Given the description of an element on the screen output the (x, y) to click on. 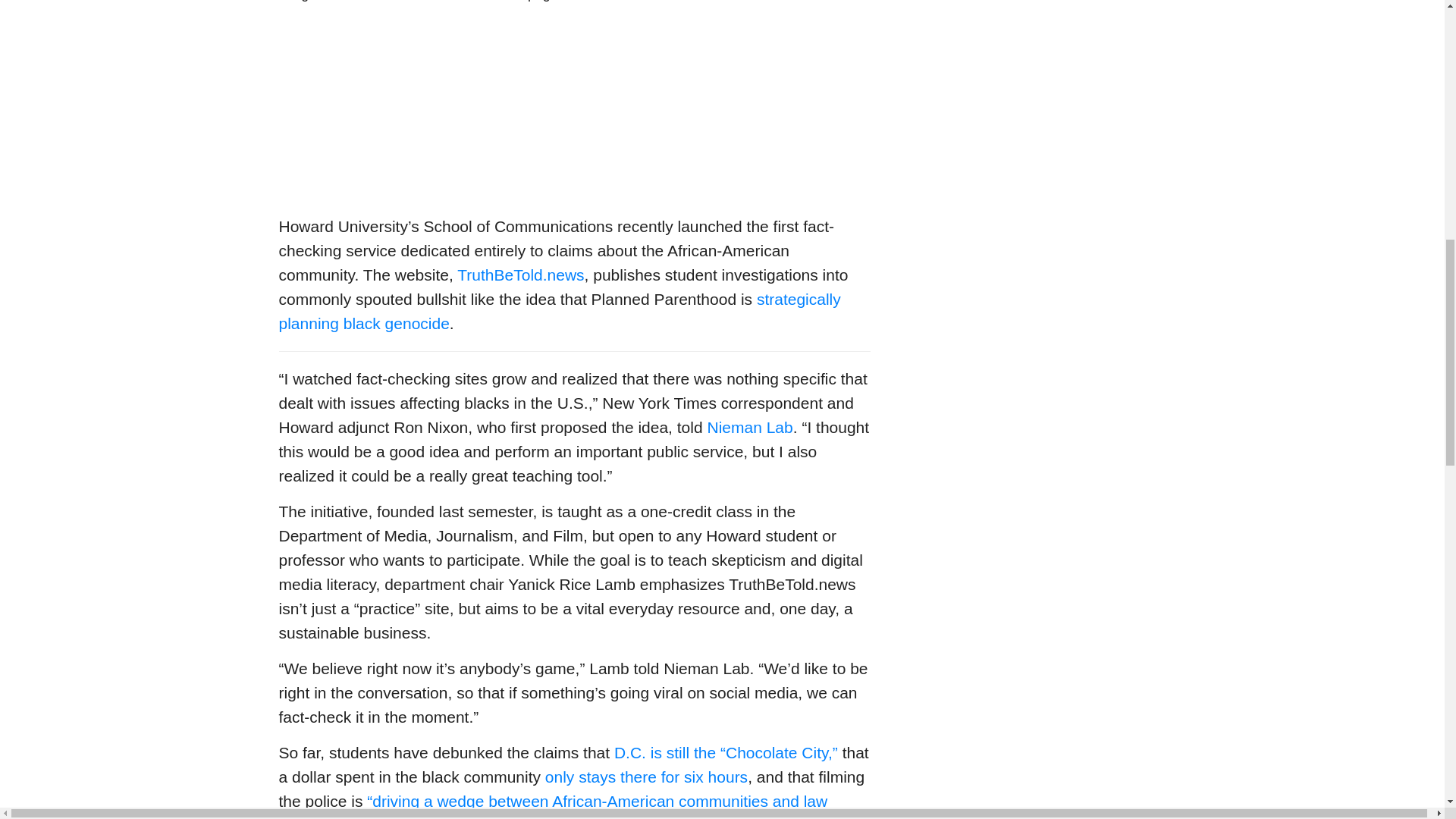
TruthBeTold.news (520, 274)
only stays there for six hours (646, 776)
Nieman Lab (749, 426)
strategically planning black genocide (560, 311)
